Given the description of an element on the screen output the (x, y) to click on. 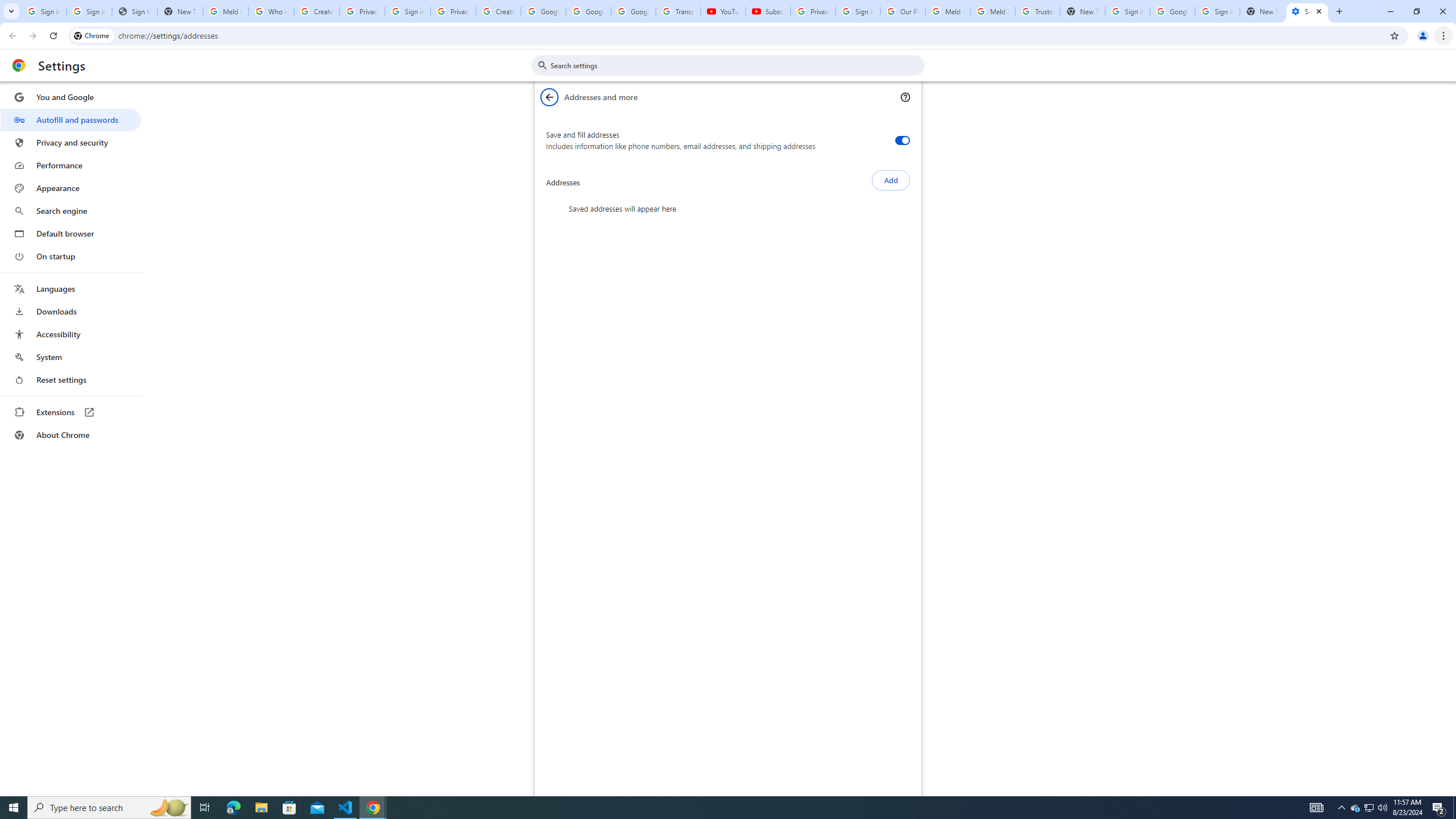
Languages (70, 288)
Default browser (70, 233)
Autofill and passwords (70, 119)
Sign in - Google Accounts (1216, 11)
About Chrome (70, 434)
Subscriptions - YouTube (767, 11)
You and Google (70, 96)
Search settings (735, 65)
